Given the description of an element on the screen output the (x, y) to click on. 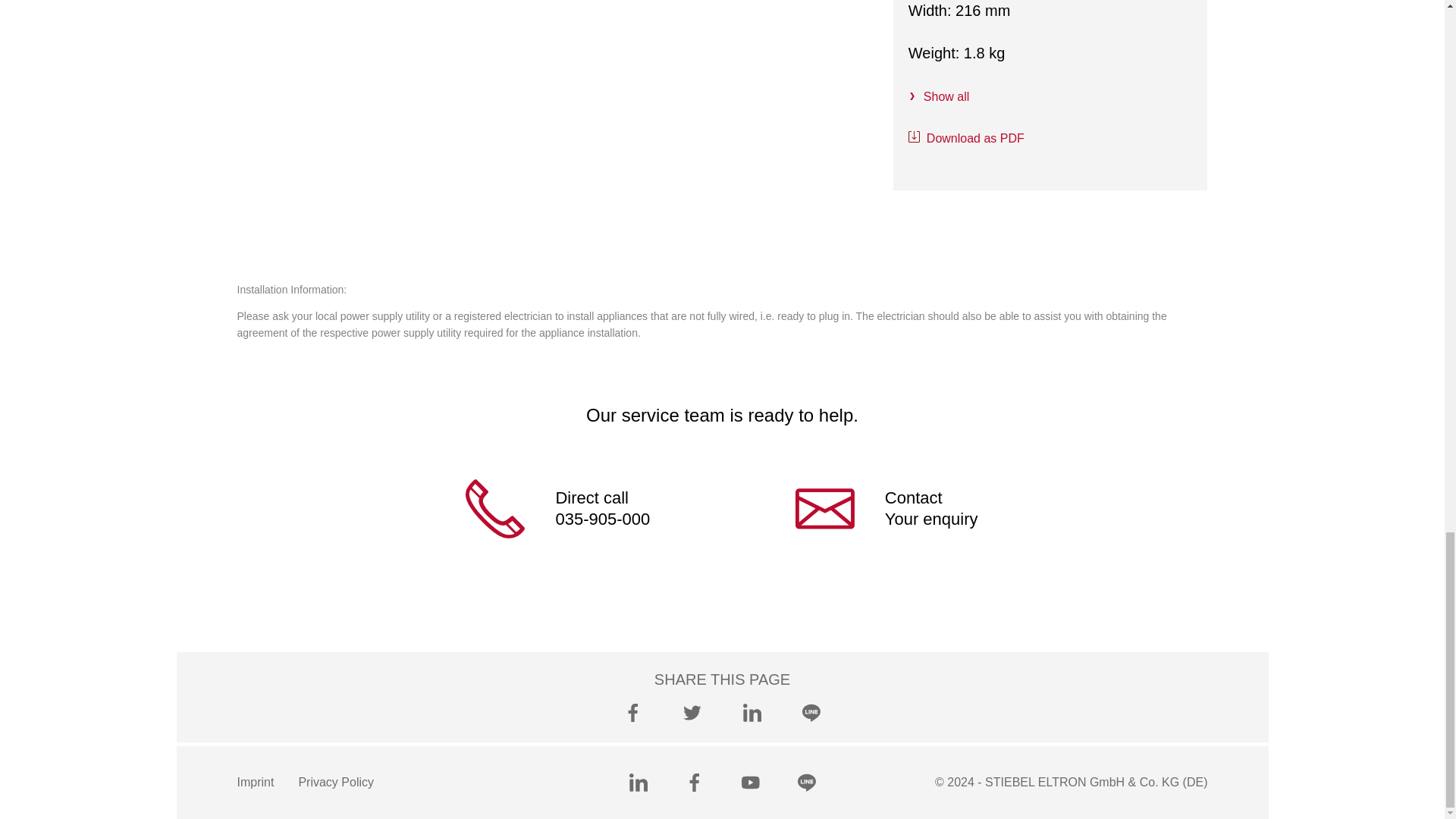
LinkedIn (637, 782)
Twitter (691, 712)
Facebook (633, 712)
Line (806, 782)
Facebook (694, 782)
Line (811, 712)
LinkedIn (751, 712)
YouTube (750, 782)
